Given the description of an element on the screen output the (x, y) to click on. 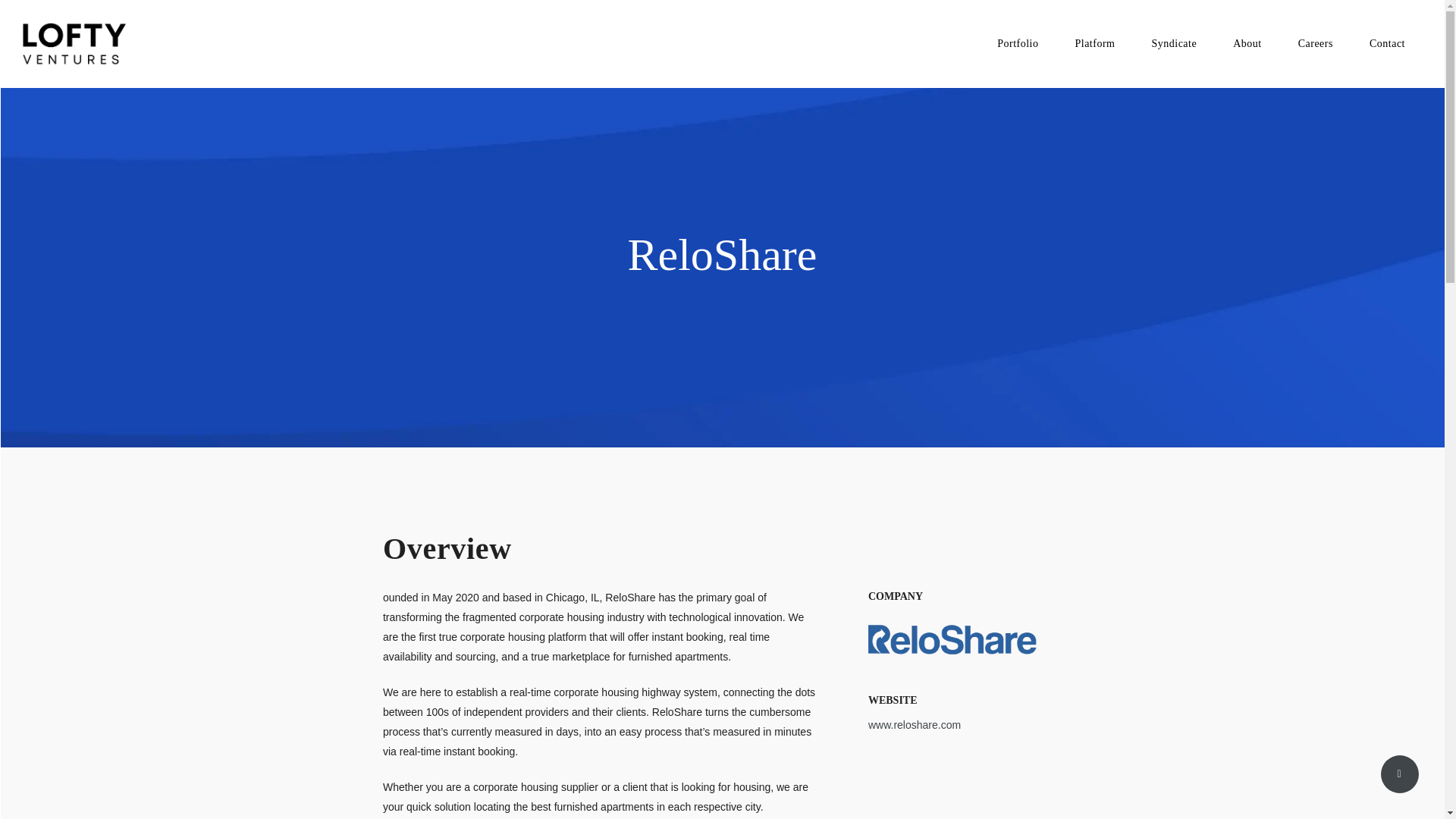
www.reloshare.com (913, 725)
About (1246, 43)
Syndicate (1173, 43)
Platform (1094, 43)
Contact (1387, 43)
Portfolio (1017, 43)
Careers (1315, 43)
